Given the description of an element on the screen output the (x, y) to click on. 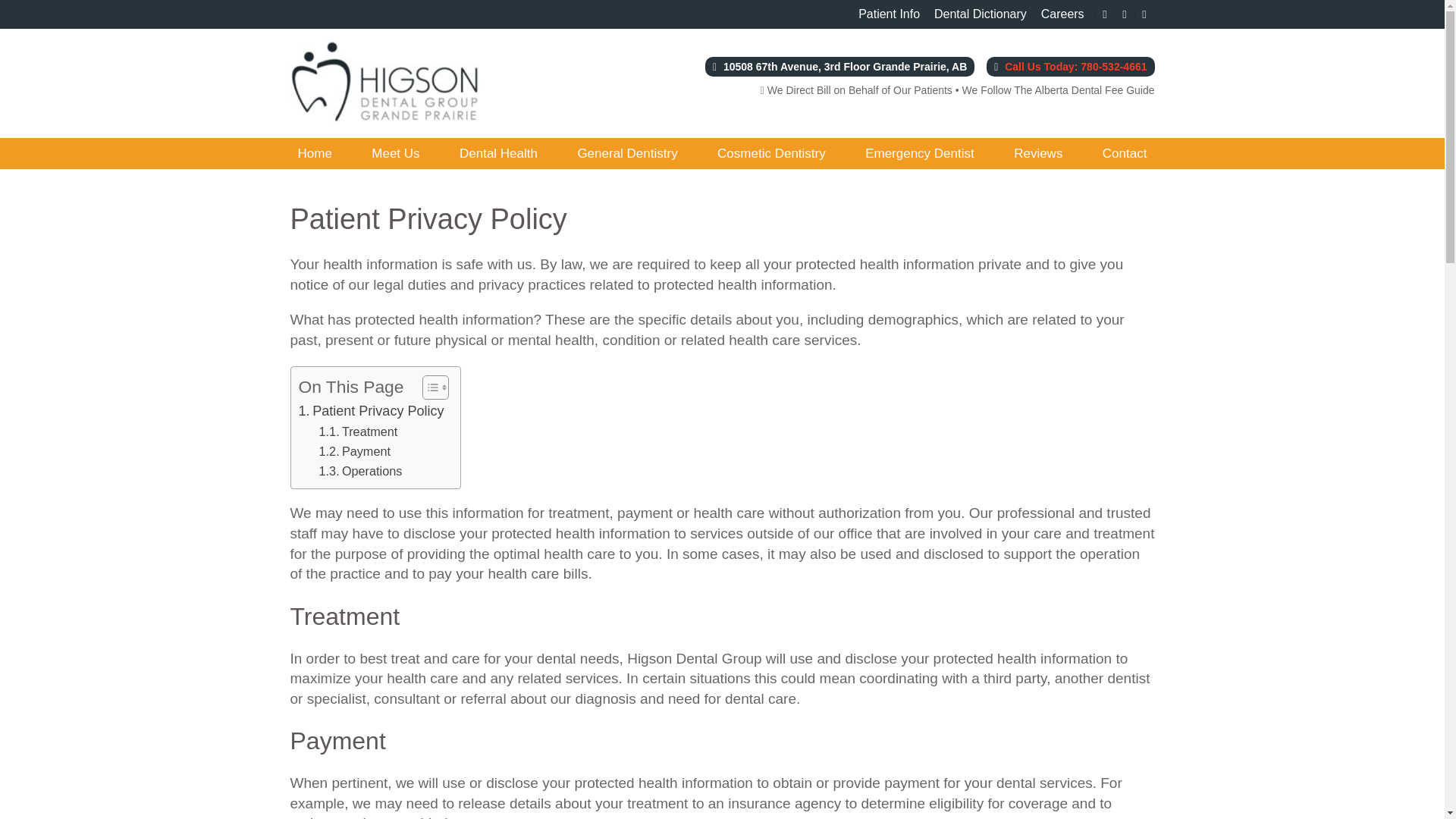
Cosmetic Dentistry (771, 153)
Dental Dictionary (980, 13)
Patient Privacy Policy (371, 411)
Home (314, 153)
Facebook (1103, 13)
Reviews (1038, 153)
Payment (354, 451)
Patient Info (889, 13)
Contact (1124, 153)
Dental Health (497, 153)
